Given the description of an element on the screen output the (x, y) to click on. 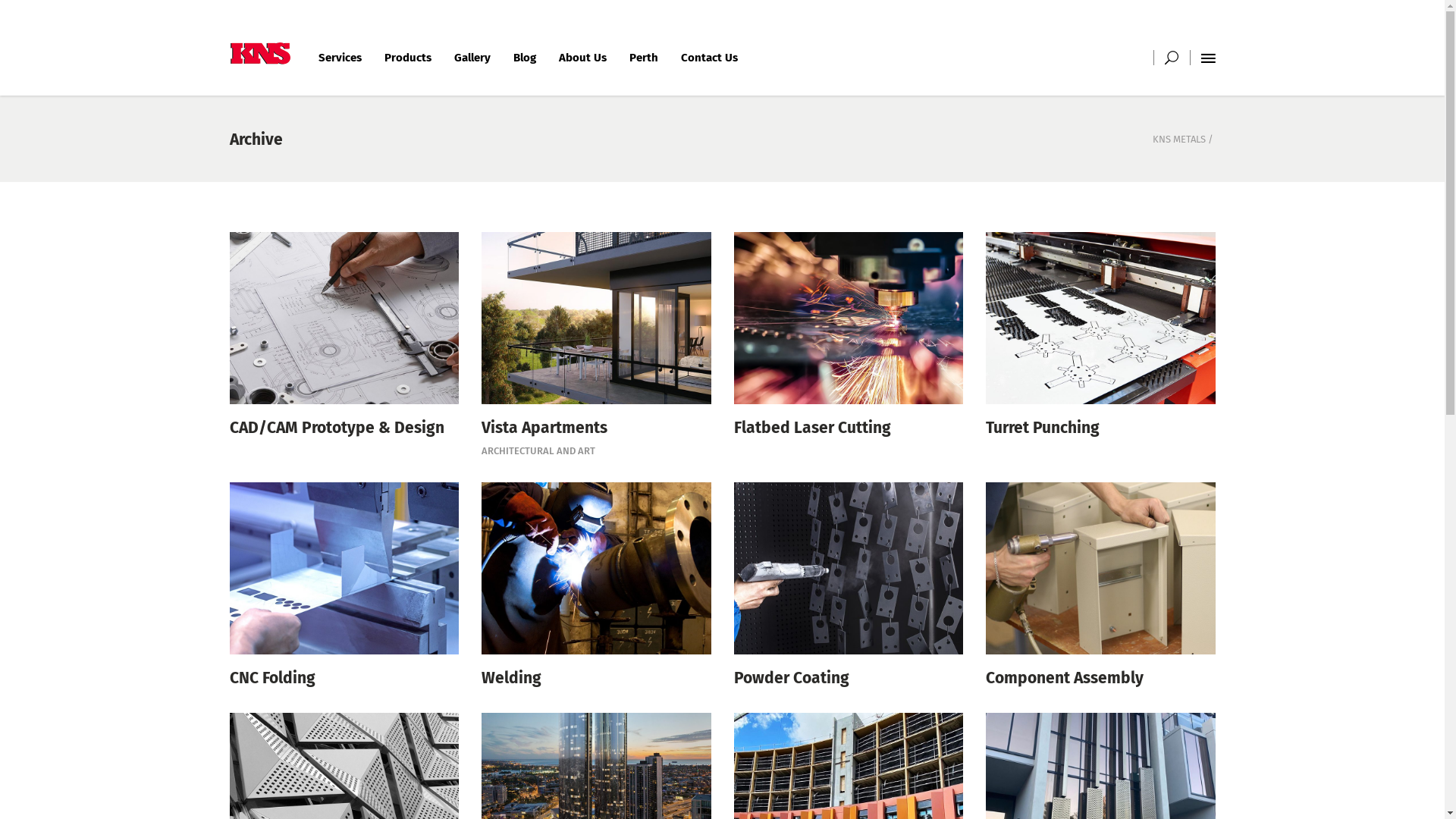
Flatbed Laser Cutting Element type: text (848, 427)
Component Assembly Element type: text (1100, 678)
ARCHITECTURAL AND ART Element type: text (538, 451)
About Us Element type: text (582, 57)
Products Element type: text (407, 57)
Blog Element type: text (524, 57)
KNS METALS Element type: text (1178, 139)
Contact Us Element type: text (708, 57)
CNC Folding Element type: text (343, 678)
Powder Coating Element type: text (848, 678)
Turret Punching Element type: text (1100, 427)
Welding Element type: text (596, 678)
Search Element type: text (1145, 121)
Gallery Element type: text (472, 57)
CAD/CAM Prototype & Design Element type: text (343, 427)
Vista Apartments Element type: text (596, 427)
Services Element type: text (339, 57)
Perth Element type: text (642, 57)
